Given the description of an element on the screen output the (x, y) to click on. 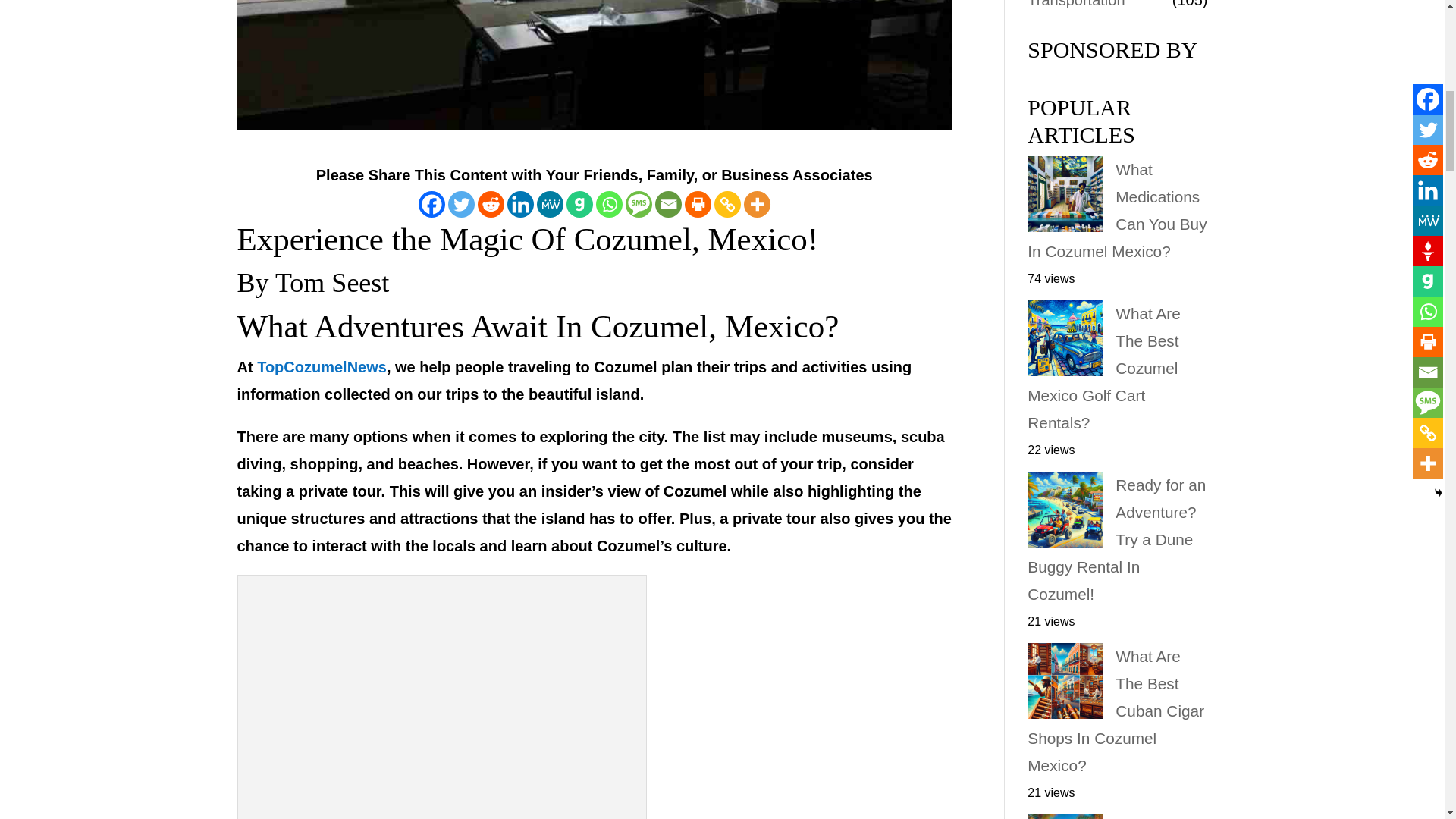
Linkedin (520, 203)
Reddit (490, 203)
Facebook (432, 203)
Twitter (461, 203)
MeWe (550, 203)
